Given the description of an element on the screen output the (x, y) to click on. 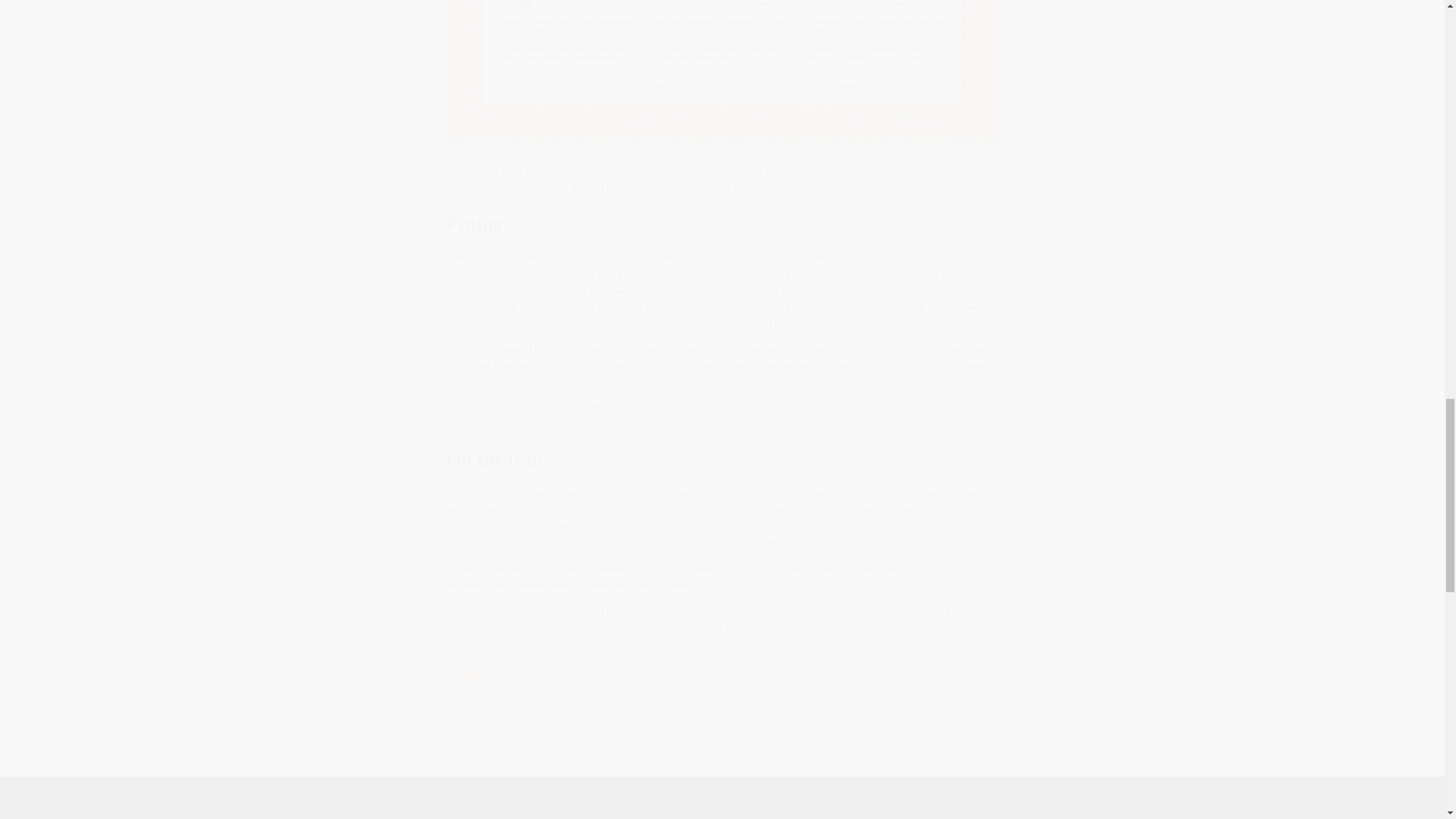
Share (721, 674)
